Given the description of an element on the screen output the (x, y) to click on. 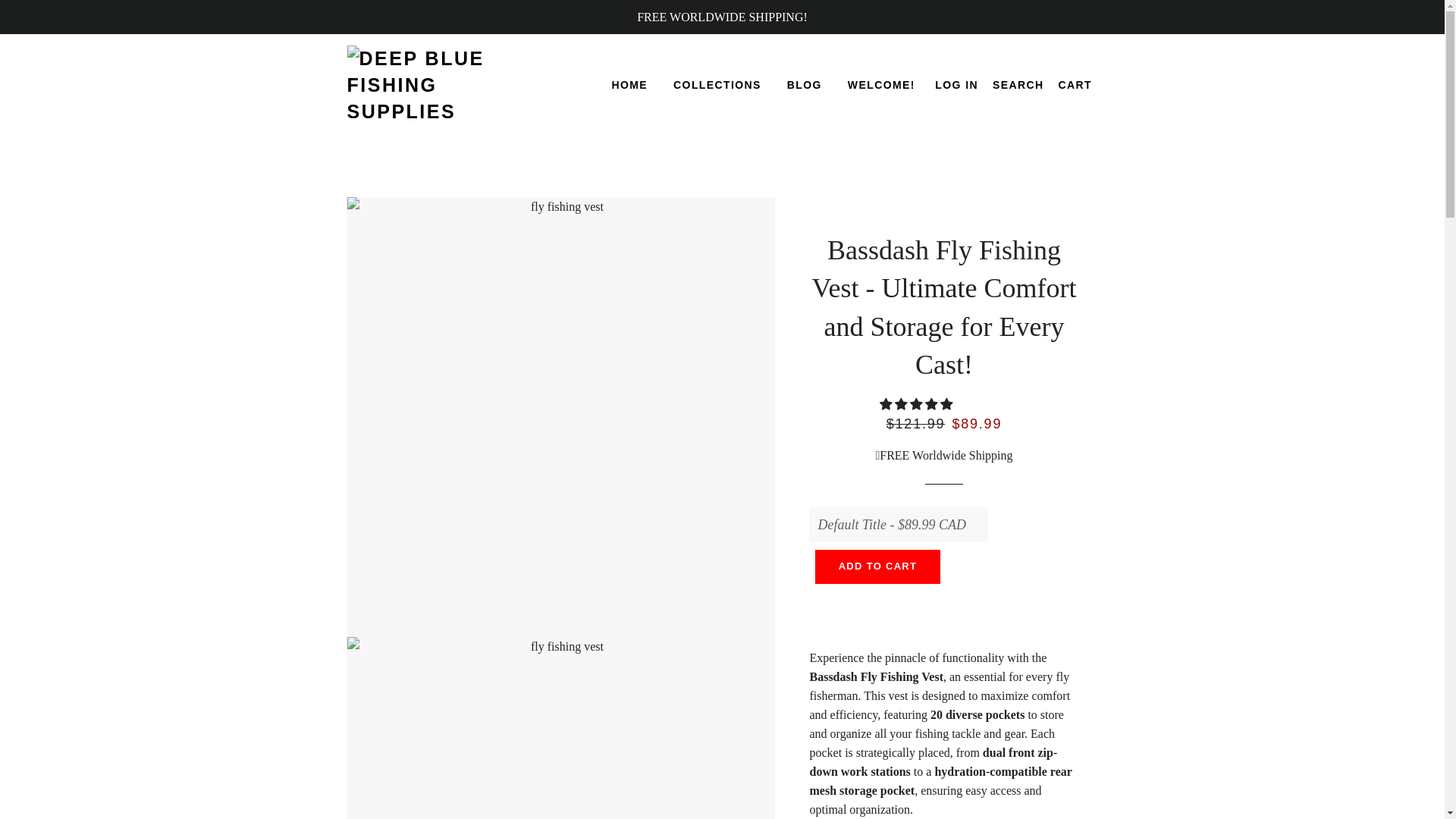
WELCOME! (880, 85)
LOG IN (957, 85)
SEARCH (1018, 85)
BLOG (804, 85)
HOME (629, 85)
CART (1074, 85)
ADD TO CART (877, 566)
COLLECTIONS (717, 85)
